Given the description of an element on the screen output the (x, y) to click on. 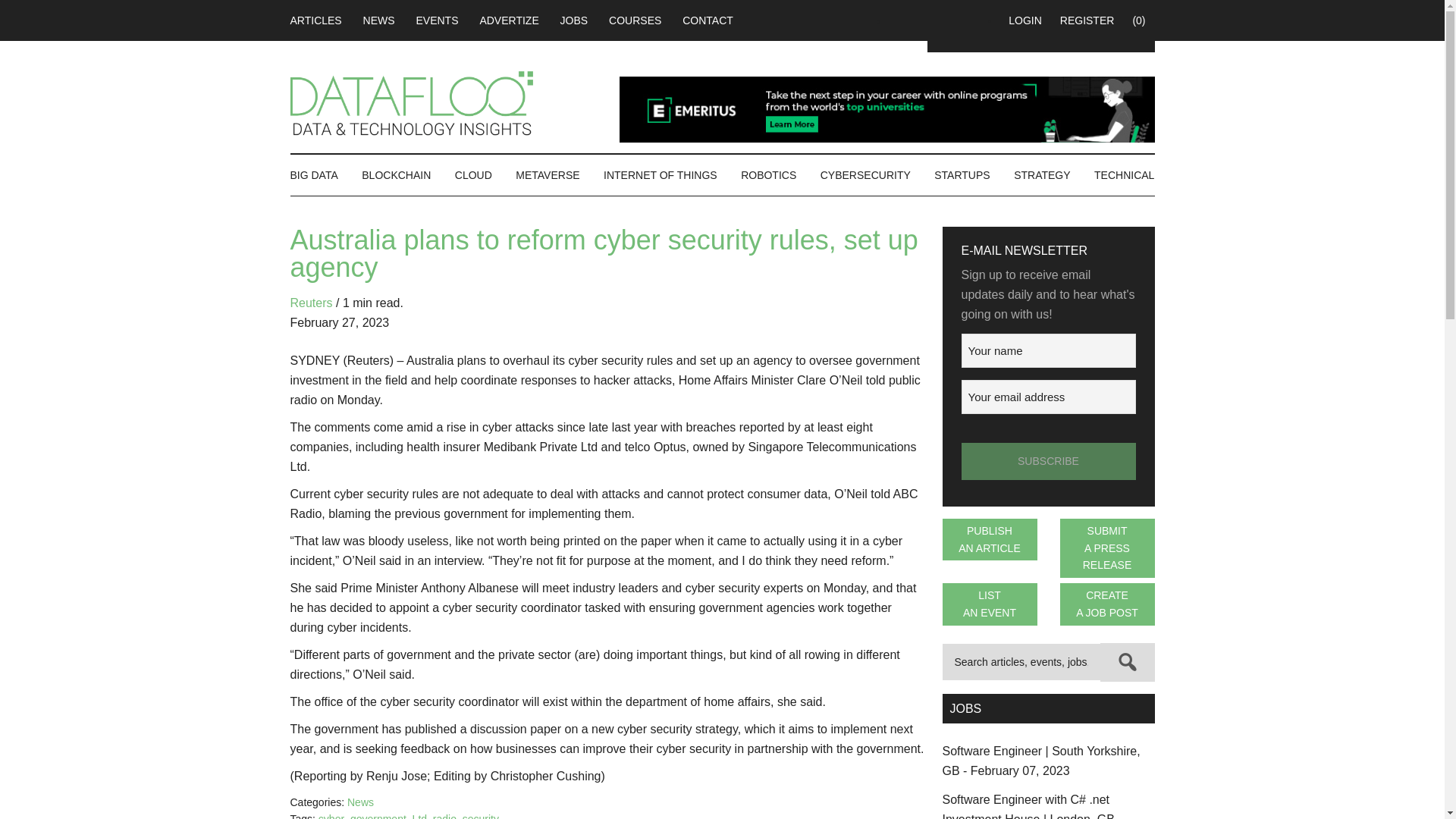
JOBS (573, 20)
FACEBOOK (900, 19)
CLOUD (472, 174)
TWITTER (986, 19)
EVENTS (436, 20)
LINKEDIN (928, 19)
CONTACT (707, 20)
RSS (957, 19)
COURSES (634, 20)
